Given the description of an element on the screen output the (x, y) to click on. 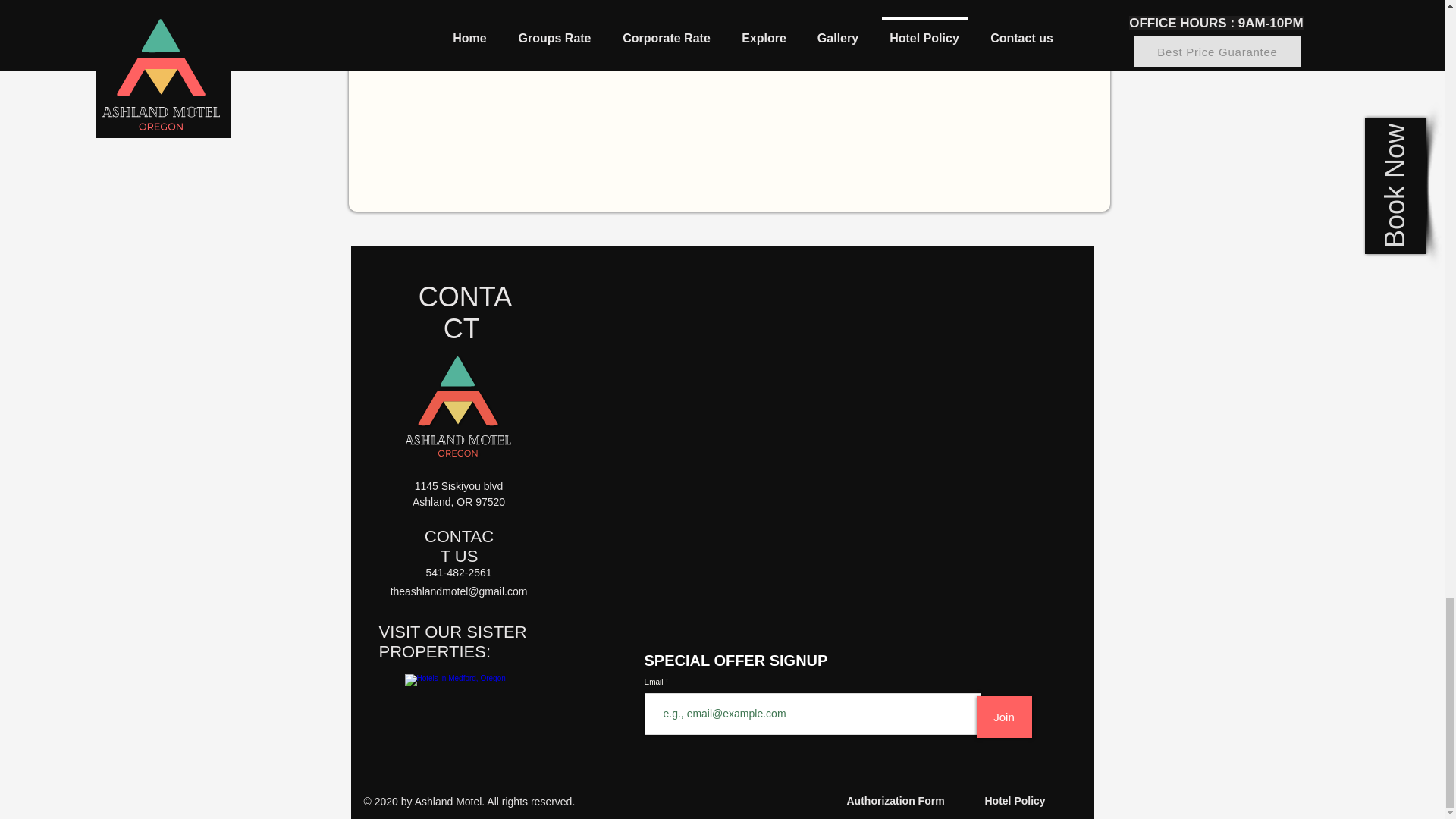
Join (1004, 716)
Authorization Form (894, 801)
Hotel Policy (1014, 801)
541-482-2561 (458, 572)
